Given the description of an element on the screen output the (x, y) to click on. 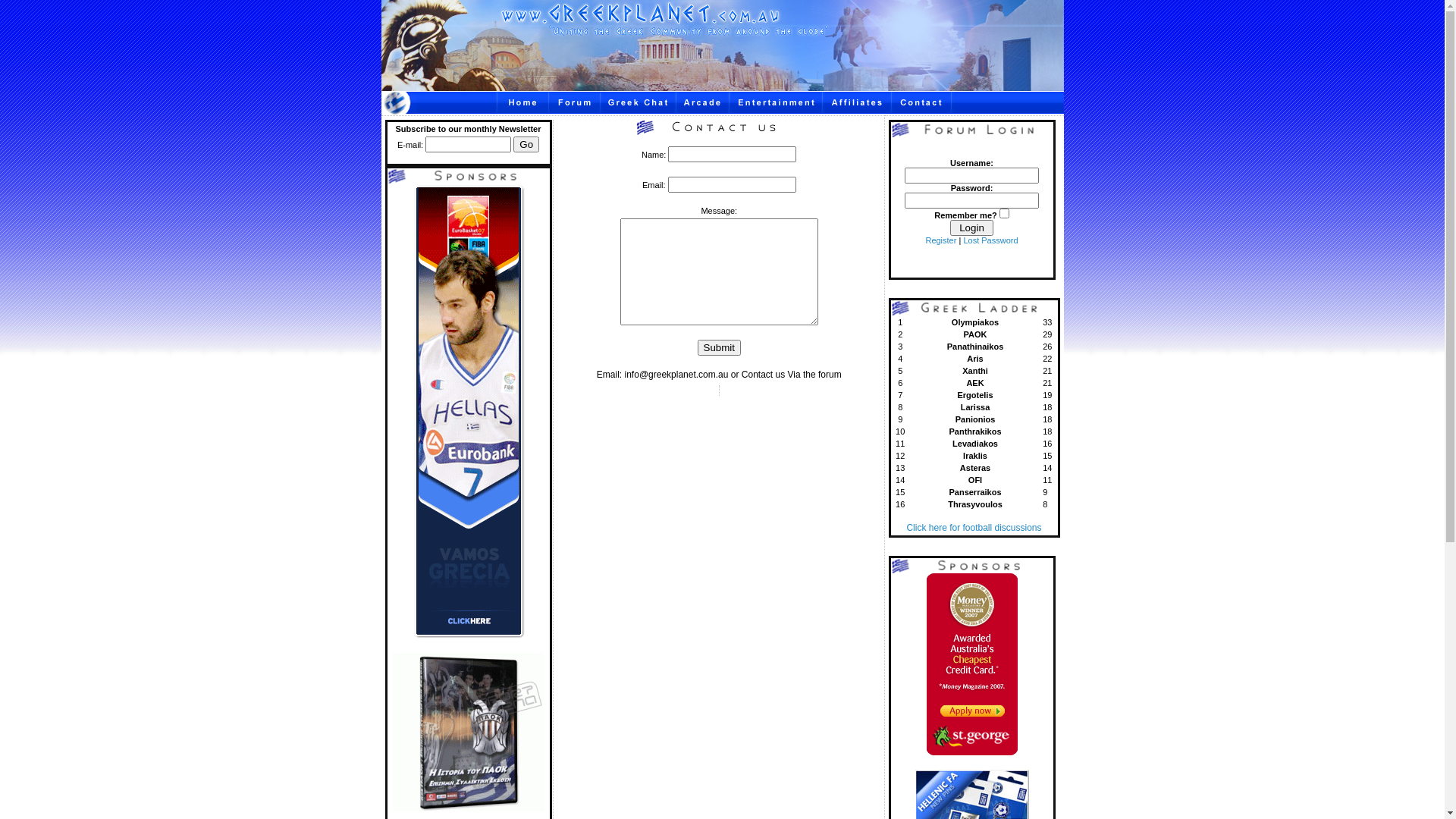
Go Element type: text (526, 144)
Submit Element type: text (718, 347)
Click here for football discussions Element type: text (973, 527)
 Login  Element type: text (971, 227)
Lost Password Element type: text (990, 239)
Register Element type: text (940, 239)
